Given the description of an element on the screen output the (x, y) to click on. 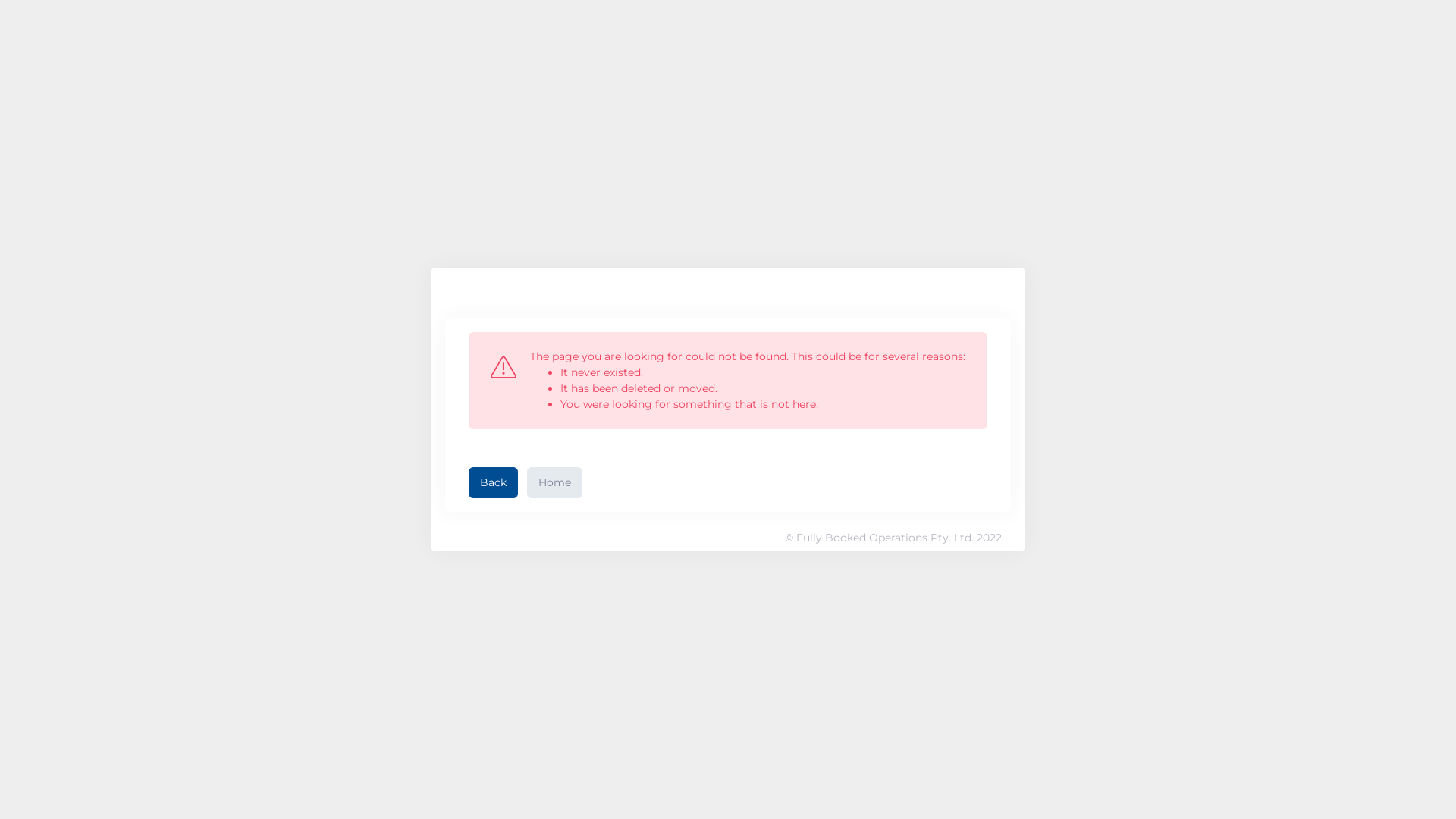
Home Element type: text (554, 482)
Back Element type: text (492, 482)
